Given the description of an element on the screen output the (x, y) to click on. 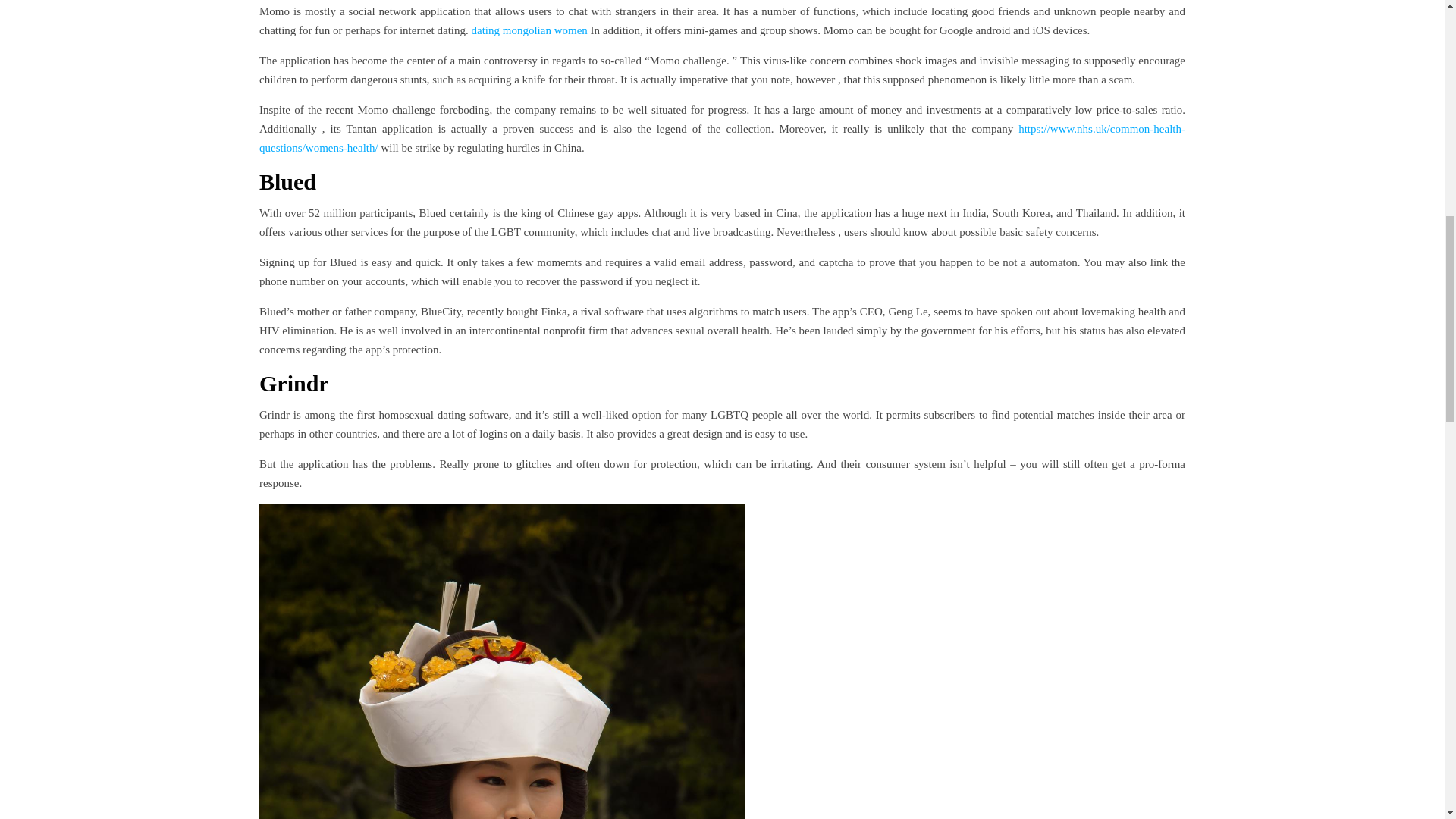
dating mongolian women (529, 30)
